Given the description of an element on the screen output the (x, y) to click on. 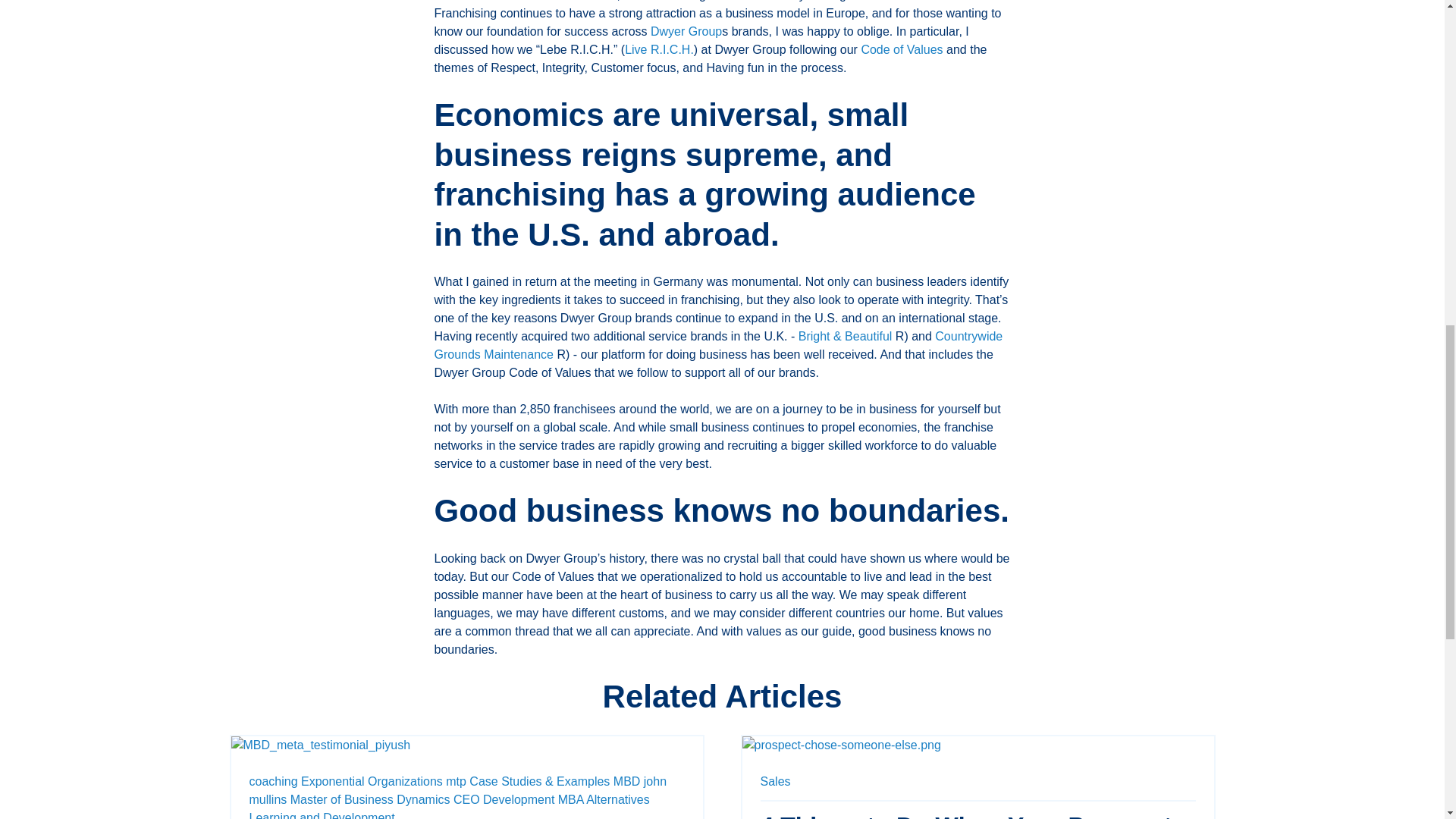
Exponential Organizations (371, 780)
mtp (455, 780)
Live R.I.C.H. (659, 49)
Code of Values (901, 49)
Dwyer Group (686, 31)
Countrywide Grounds Maintenance (718, 345)
coaching (272, 780)
MBD (626, 780)
Learning and Development (321, 815)
john mullins (457, 789)
MBA Alternatives (603, 799)
Master of Business Dynamics (369, 799)
CEO Development (503, 799)
